Given the description of an element on the screen output the (x, y) to click on. 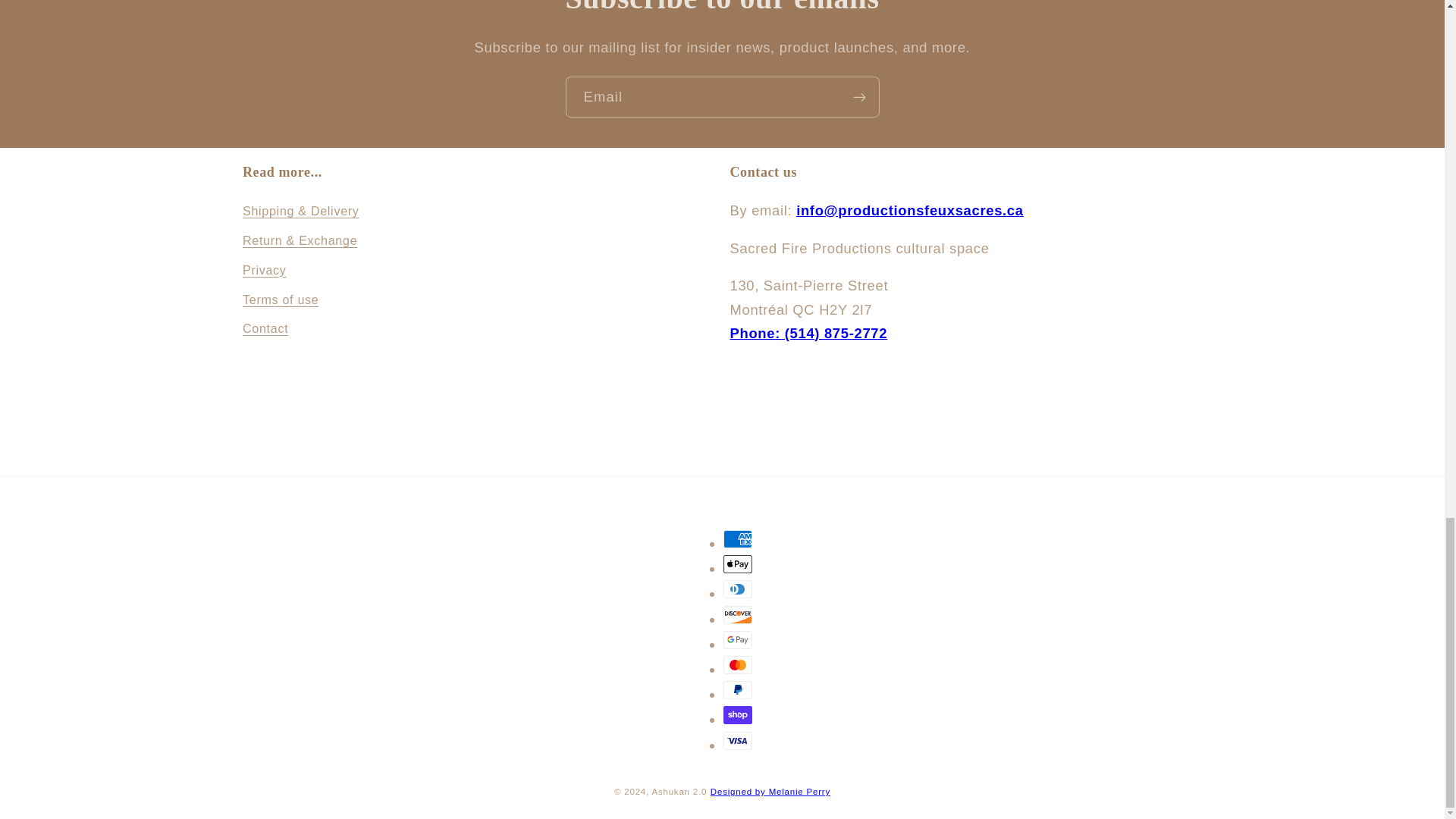
PayPal (737, 689)
Google Pay (737, 639)
Apple Pay (737, 564)
Diners Club (737, 588)
Mastercard (737, 665)
Visa (737, 741)
American Express (737, 538)
Shop Pay (737, 714)
Discover (737, 615)
